Given the description of an element on the screen output the (x, y) to click on. 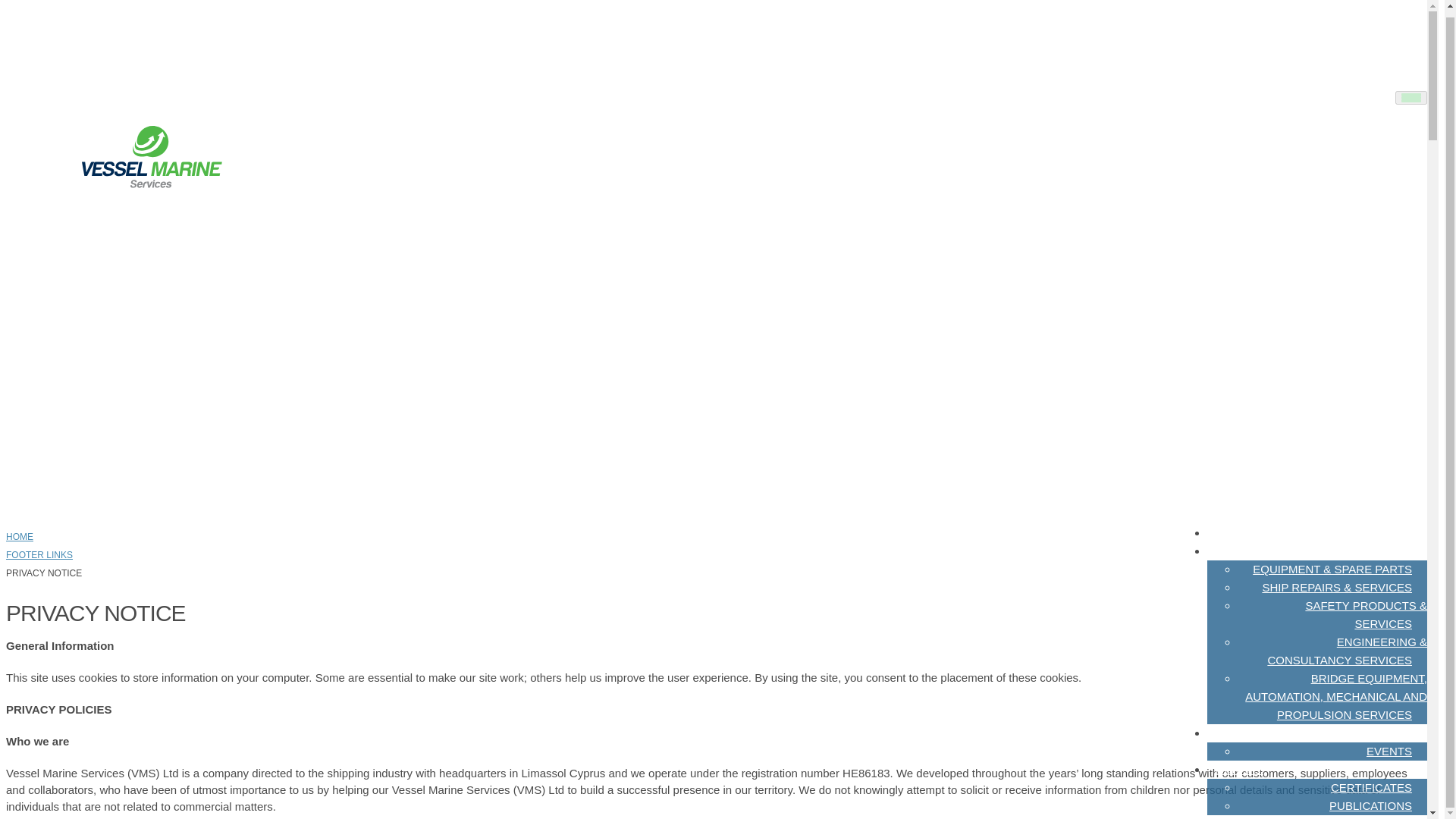
CONTACT (1241, 810)
NEWSROOM (1249, 732)
ABOUT (1234, 532)
LIBRARY (1239, 769)
EVENTS (1388, 751)
Toggle navigation (1410, 97)
About (1234, 532)
PUBLICATIONS (1370, 805)
CERTIFICATES (1371, 787)
